Given the description of an element on the screen output the (x, y) to click on. 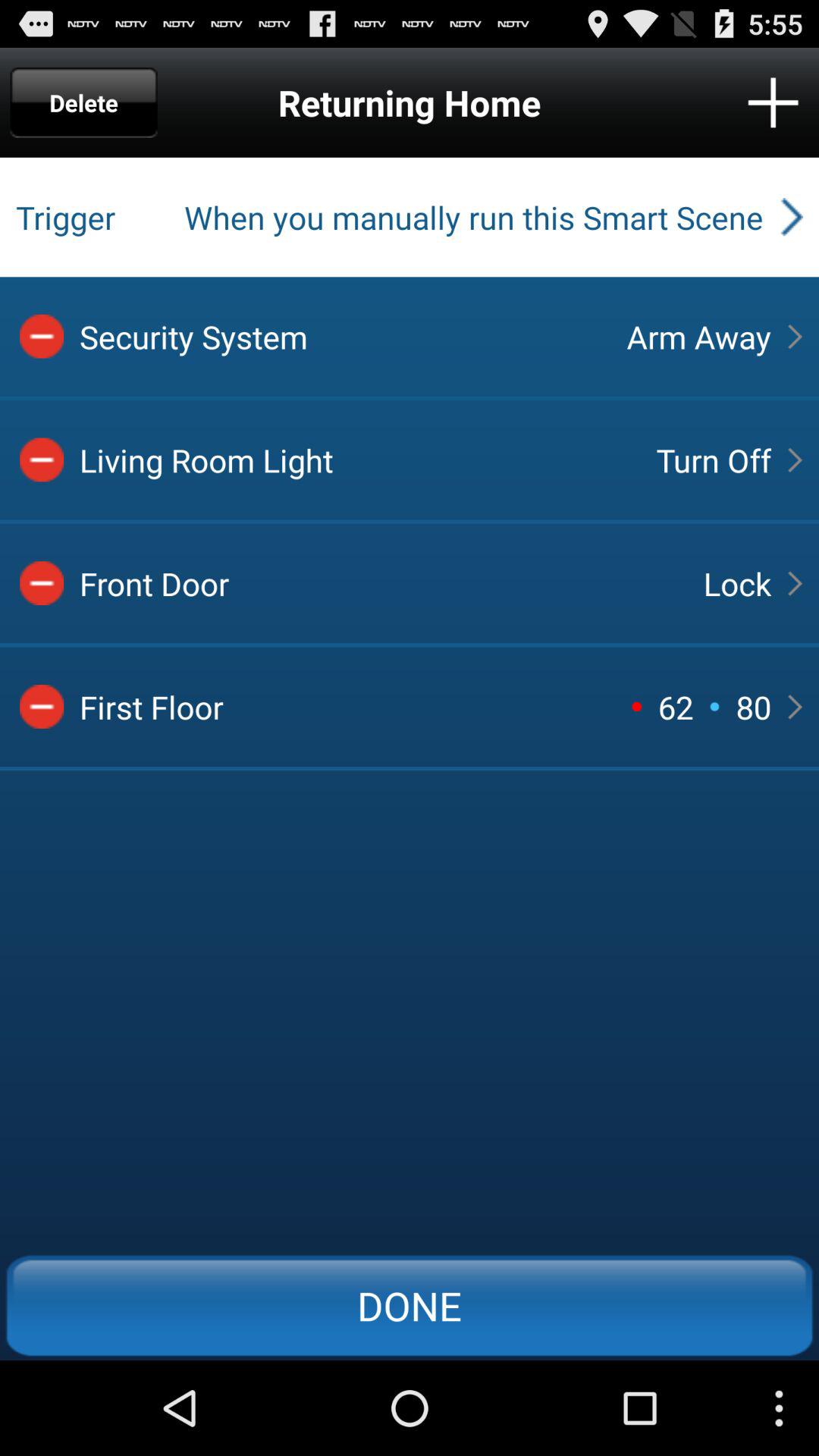
remove line (41, 459)
